Given the description of an element on the screen output the (x, y) to click on. 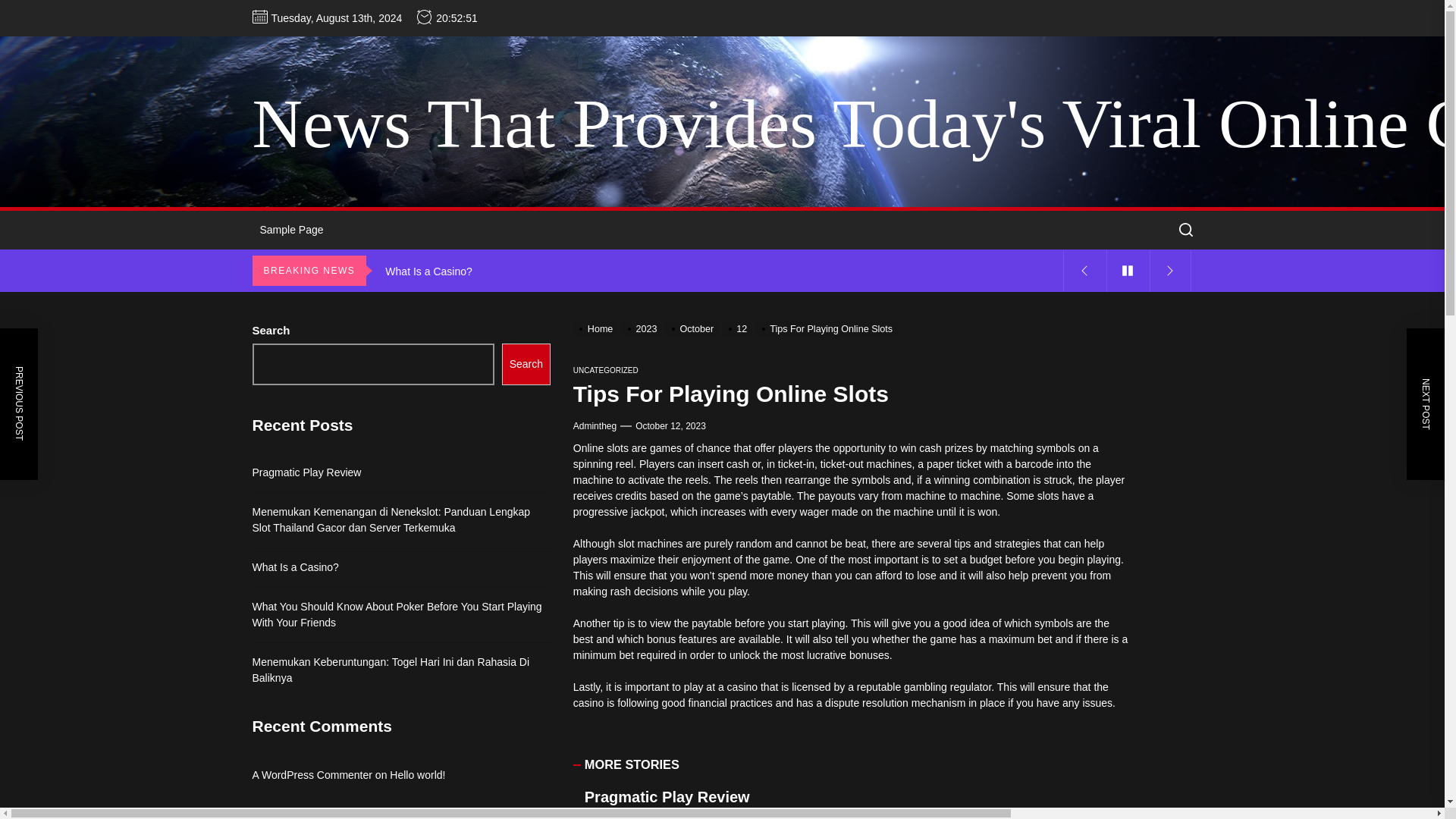
October (693, 328)
October 12, 2023 (670, 425)
What Is a Casino? (720, 271)
News That Provides Today's Viral Online Gambling Information (853, 123)
UNCATEGORIZED (606, 369)
Admintheg (594, 425)
Sample Page (290, 229)
What Is a Casino? (720, 271)
